Given the description of an element on the screen output the (x, y) to click on. 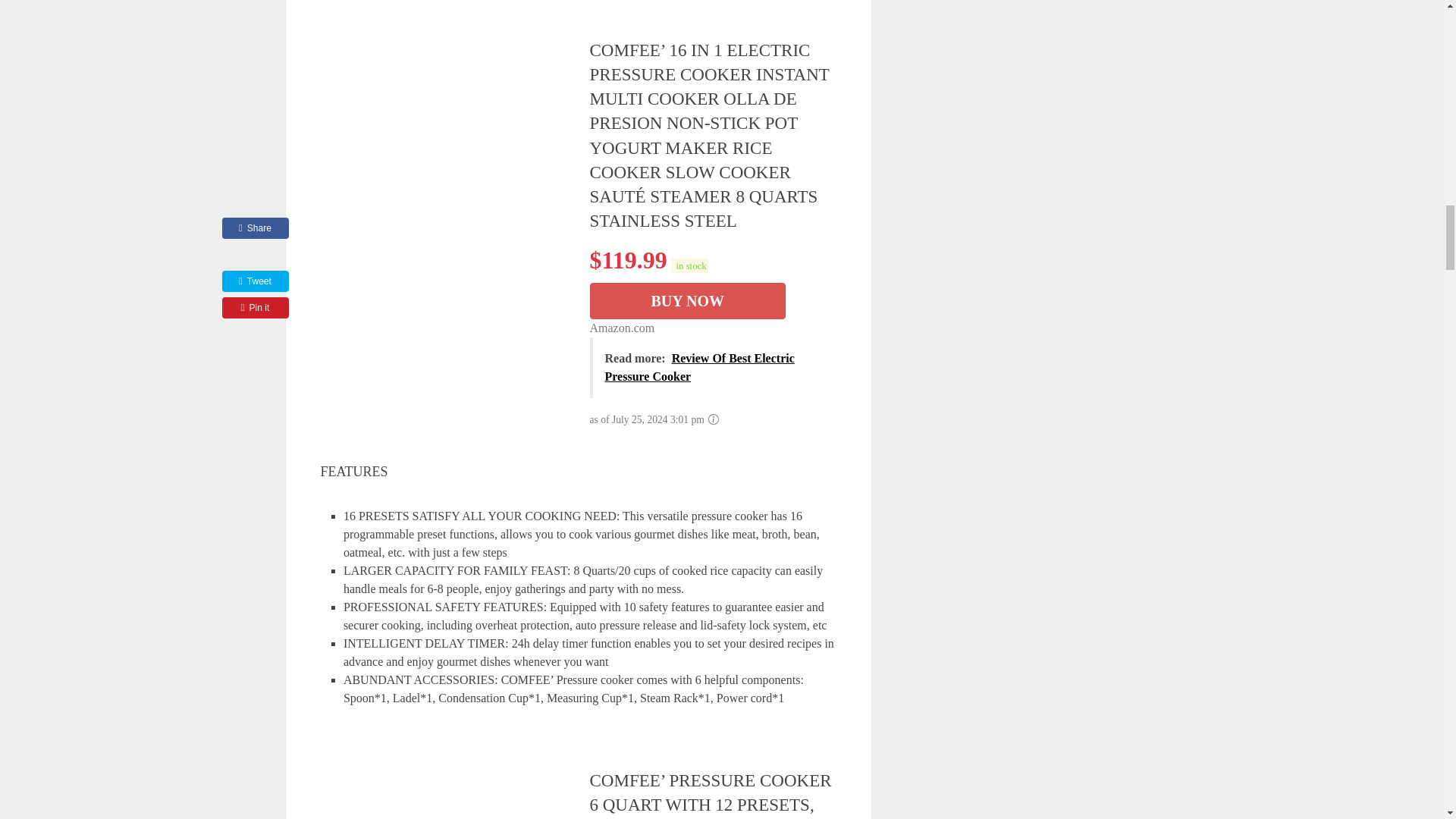
Last updated on July 25, 2024 3:01 pm (689, 265)
